Given the description of an element on the screen output the (x, y) to click on. 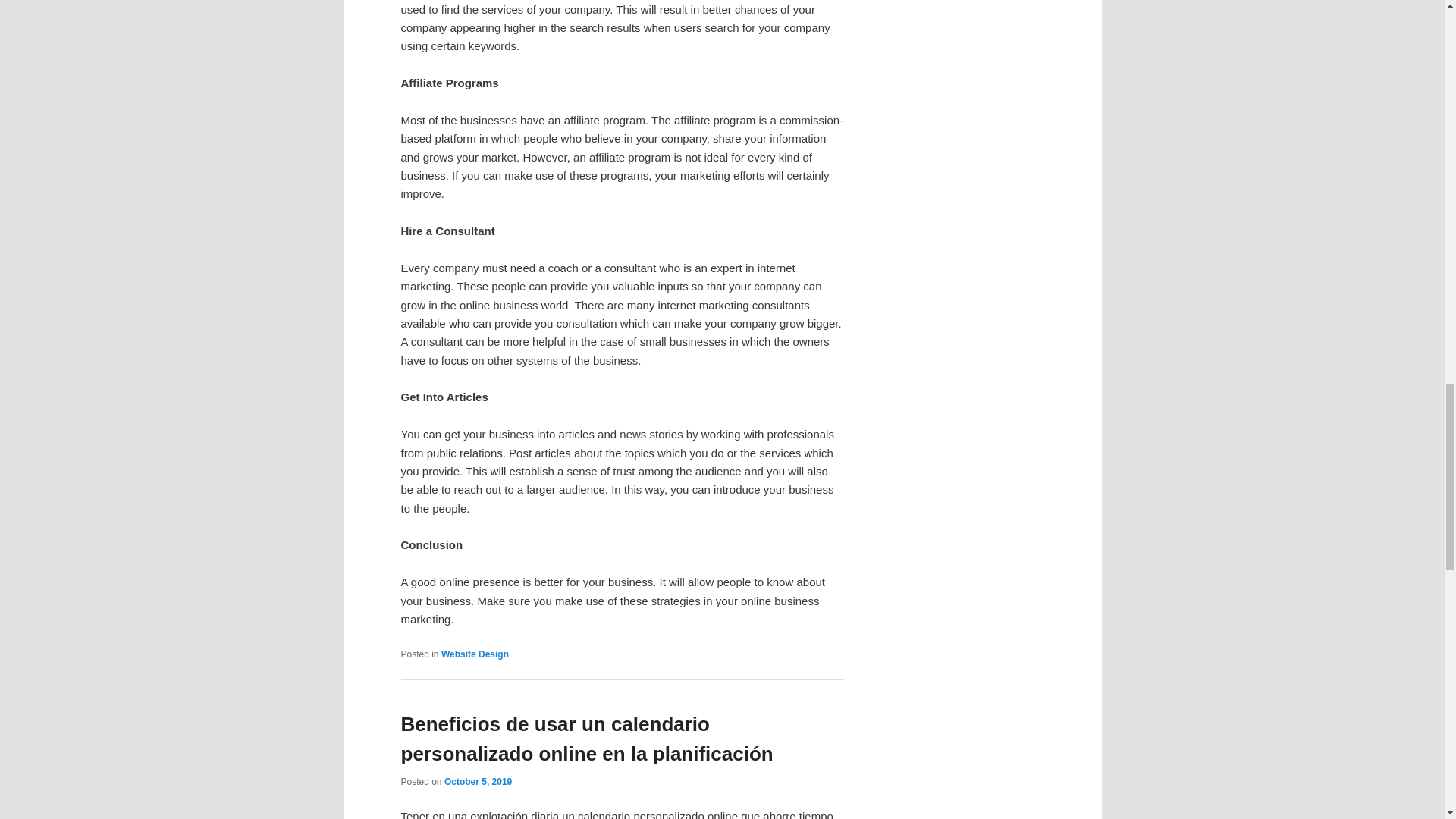
Website Design (474, 654)
October 5, 2019 (478, 781)
9:37 am (478, 781)
